Given the description of an element on the screen output the (x, y) to click on. 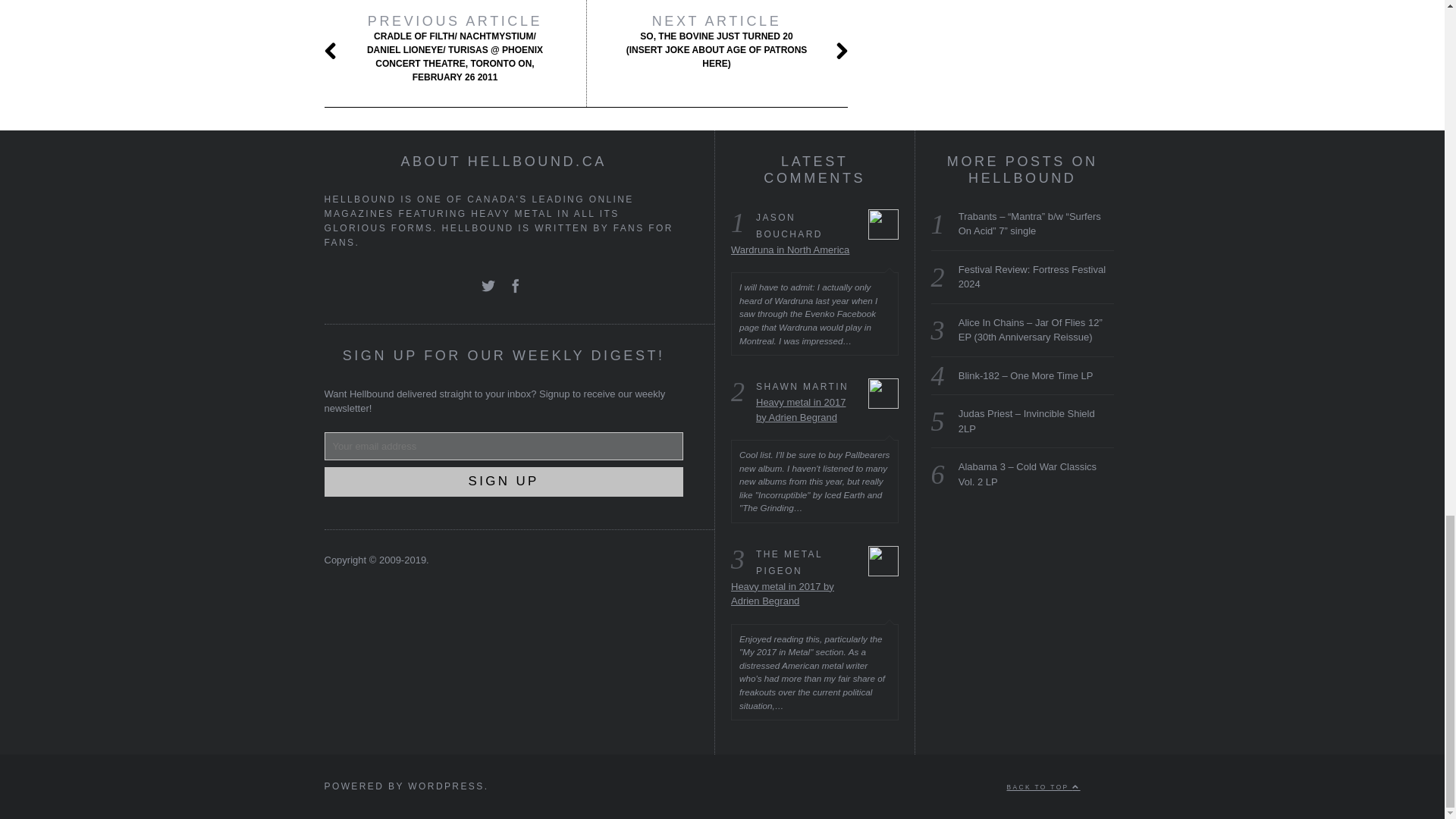
Sign up (503, 481)
